Given the description of an element on the screen output the (x, y) to click on. 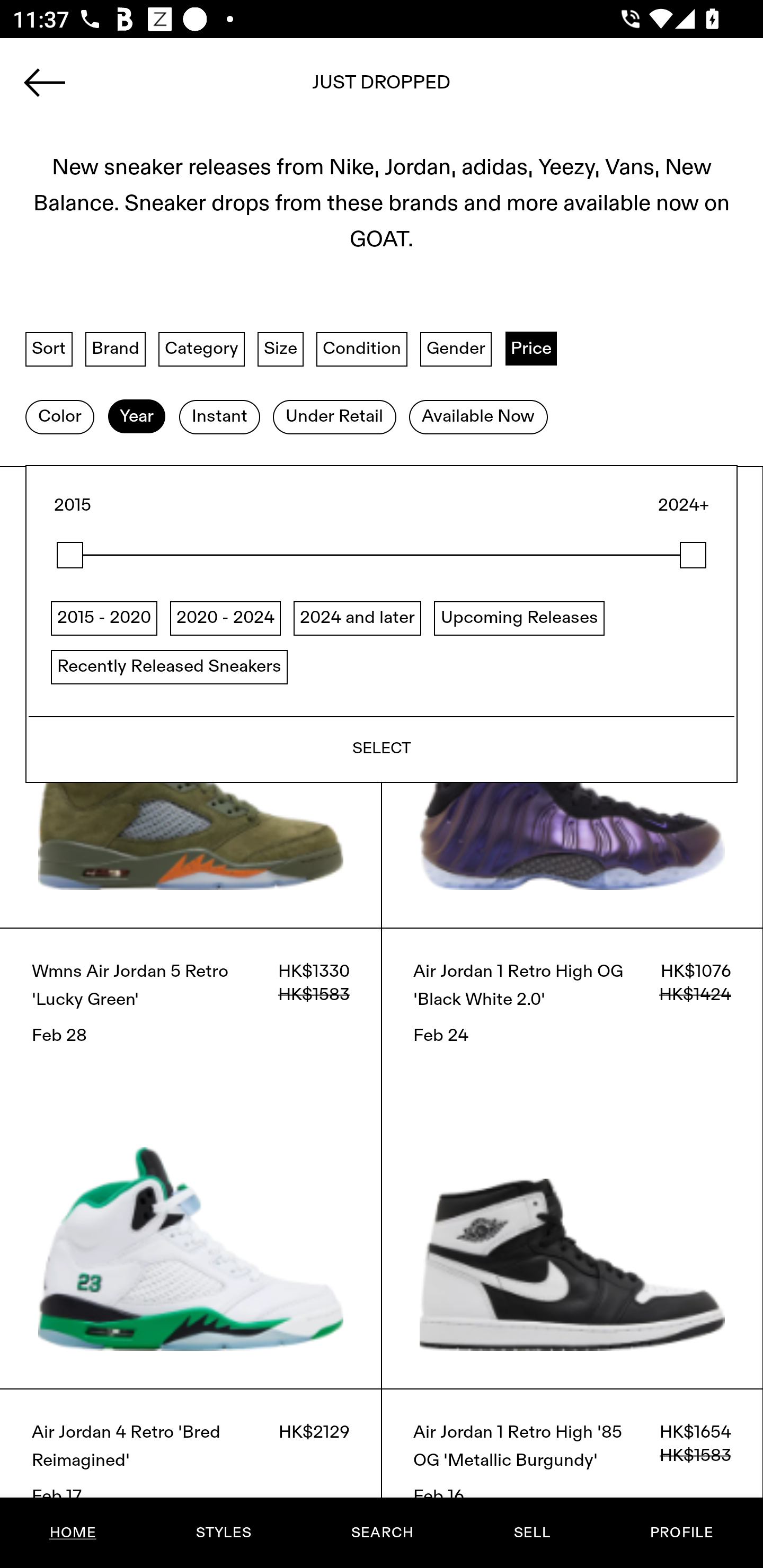
slippers (381, 88)
Sort (48, 348)
Brand (115, 348)
Category (201, 348)
Size (280, 348)
Condition (361, 348)
Gender (455, 348)
Price (530, 348)
Color (59, 416)
Year (136, 416)
Instant (219, 416)
Under Retail (334, 416)
Available Now (477, 416)
2015.0 Range start,2015 2024.0 Range end,2024 (381, 554)
2015 - 2020 (104, 616)
2020 - 2024 (225, 616)
2024 and later (357, 616)
Upcoming Releases (519, 616)
Recently Released Sneakers (169, 666)
SELECT (381, 747)
HOME (72, 1532)
STYLES (222, 1532)
SEARCH (381, 1532)
SELL (531, 1532)
PROFILE (681, 1532)
